Given the description of an element on the screen output the (x, y) to click on. 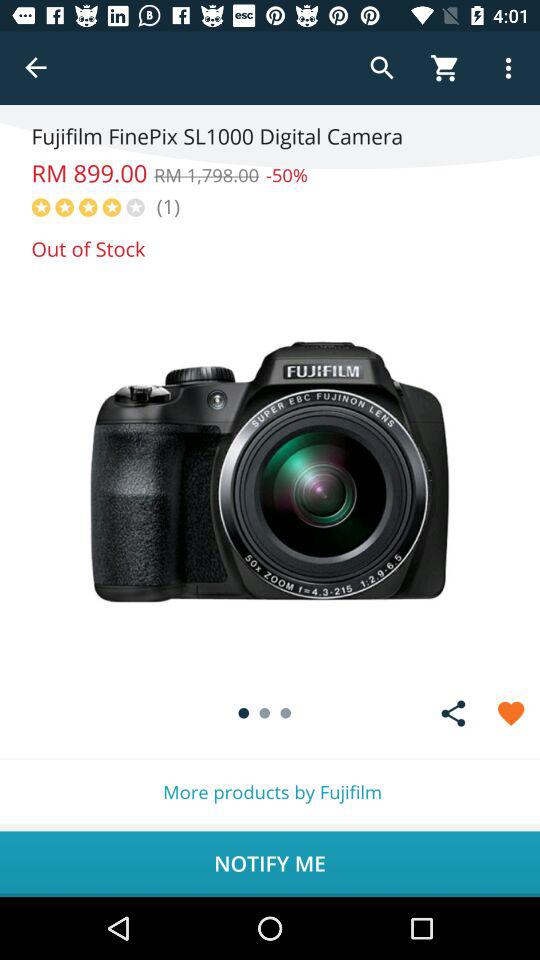
save (510, 713)
